Given the description of an element on the screen output the (x, y) to click on. 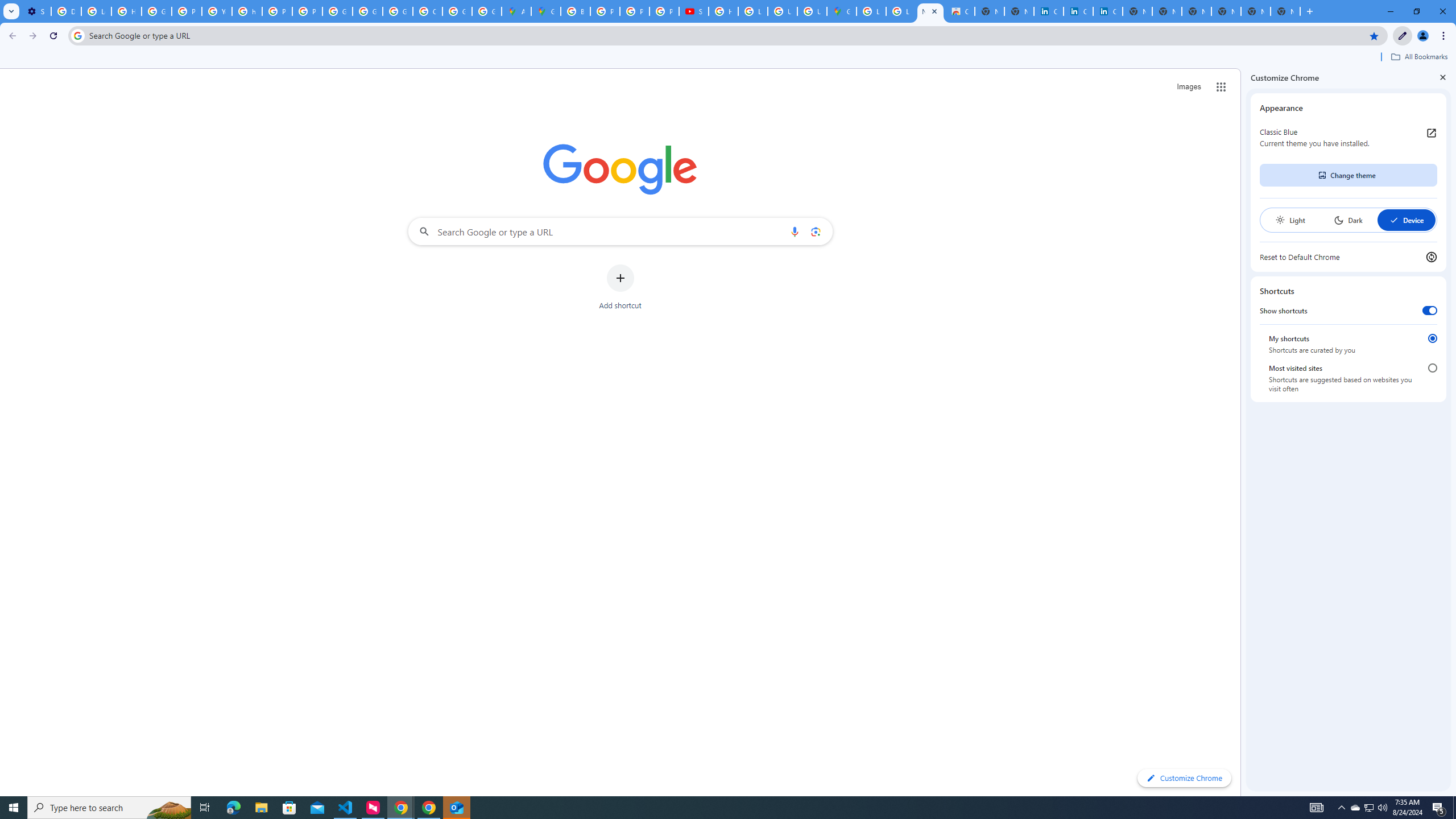
Settings - Customize profile (36, 11)
Device (1406, 219)
AutomationID: baseSvg (1394, 219)
My shortcuts (1432, 338)
Light (1289, 219)
